Given the description of an element on the screen output the (x, y) to click on. 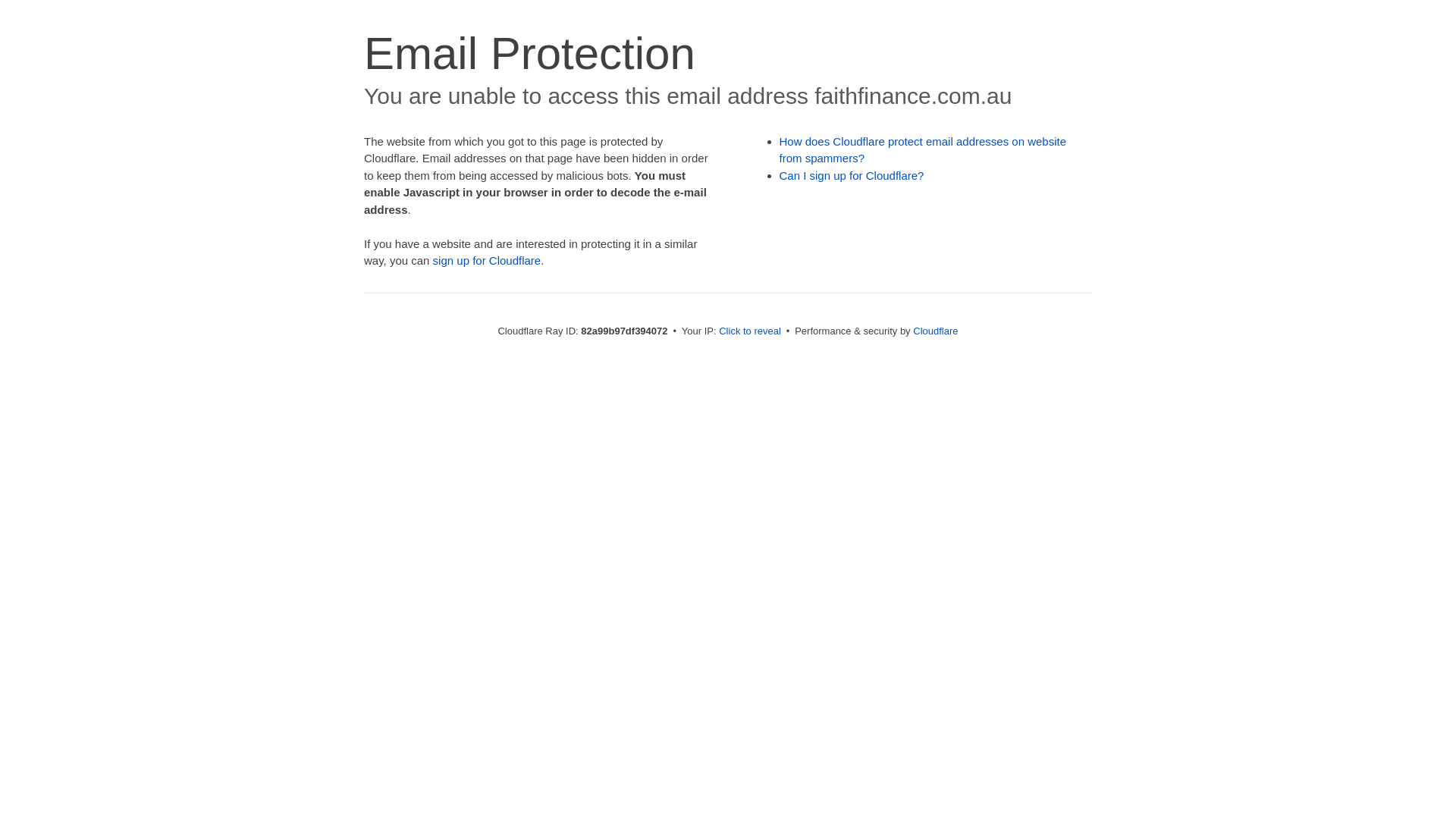
Click to reveal Element type: text (749, 330)
Cloudflare Element type: text (935, 330)
Can I sign up for Cloudflare? Element type: text (851, 175)
sign up for Cloudflare Element type: text (487, 260)
